Given the description of an element on the screen output the (x, y) to click on. 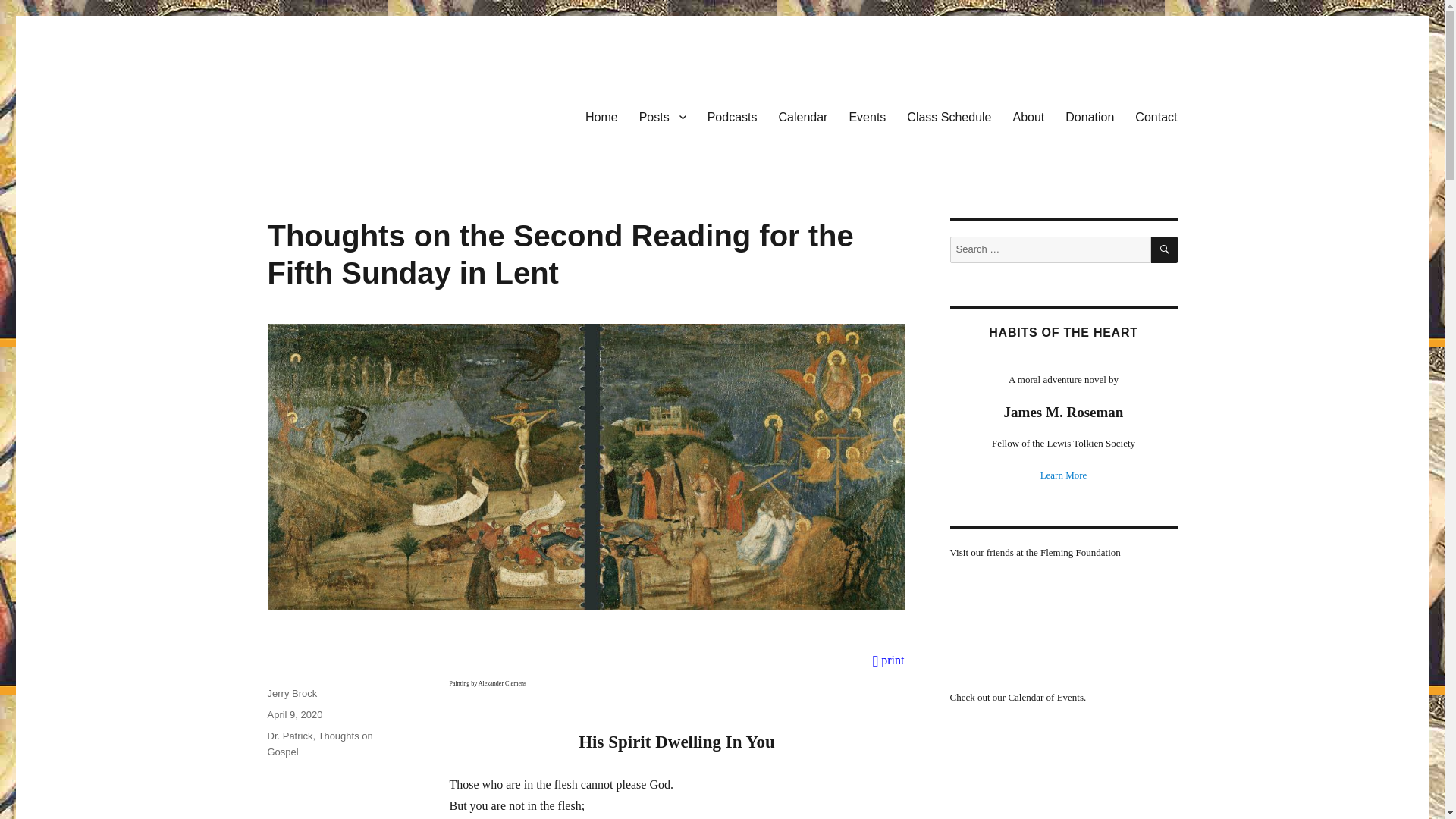
Events (867, 116)
Posts (662, 116)
Calendar (802, 116)
April 9, 2020 (293, 714)
Donation (1089, 116)
Dr. Patrick (289, 736)
Learn More (1064, 474)
About (1029, 116)
Thoughts on Gospel (319, 743)
HABITS OF THE HEART (1062, 332)
